Given the description of an element on the screen output the (x, y) to click on. 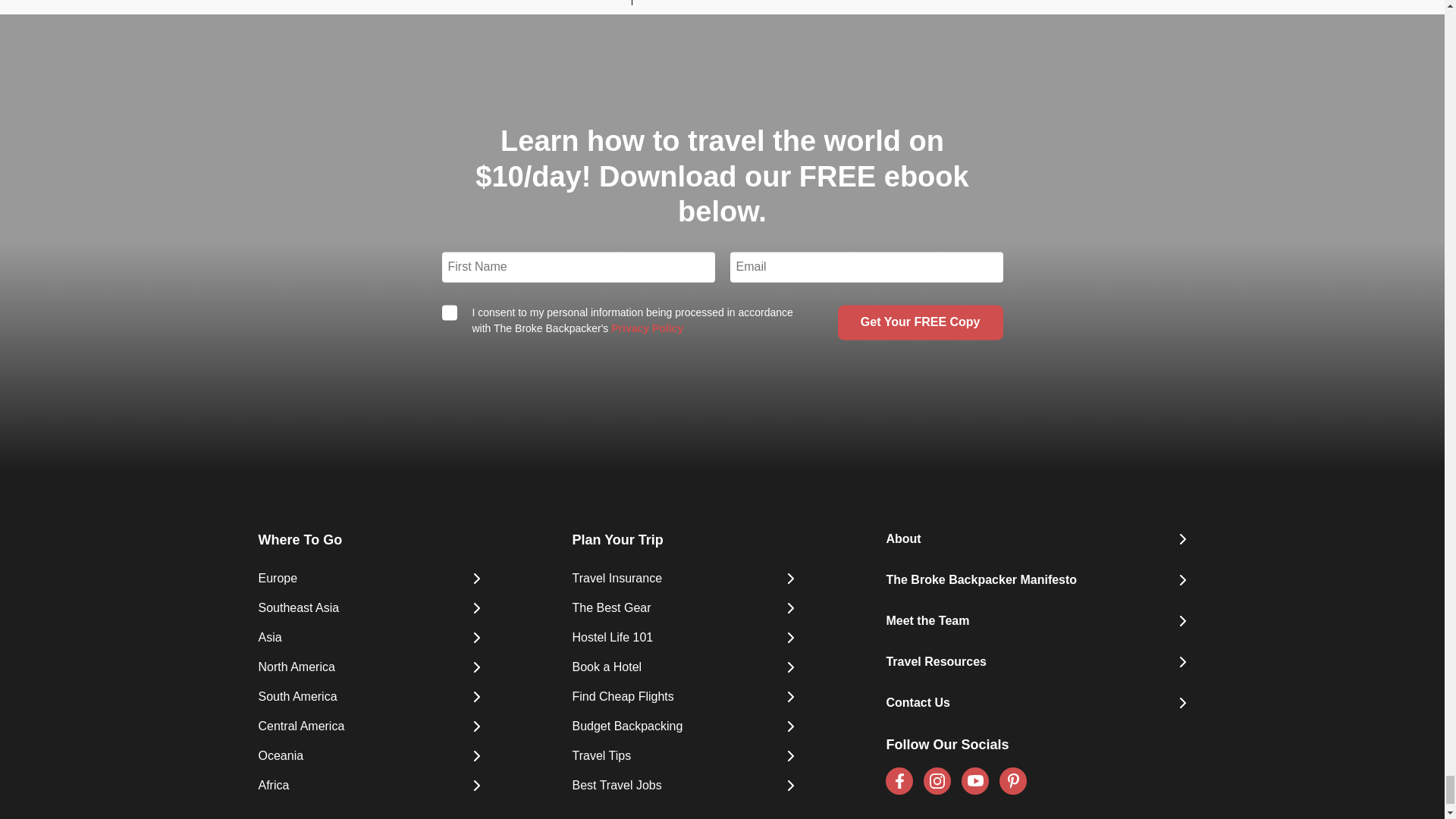
1 (449, 313)
